Given the description of an element on the screen output the (x, y) to click on. 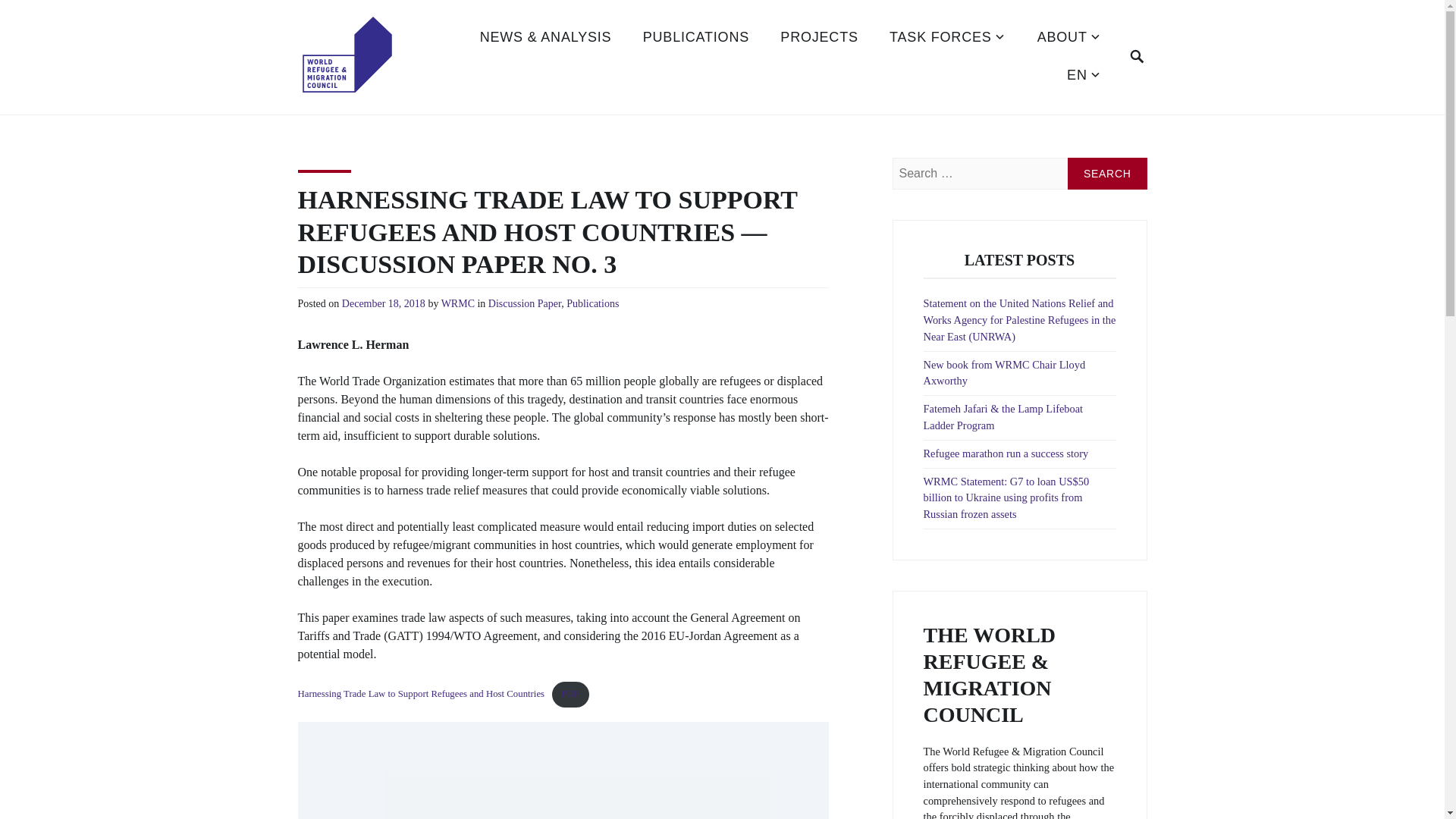
PUBLICATIONS (696, 38)
Discussion Paper (523, 304)
Harnessing Trade Law to Support Refugees and Host Countries (420, 694)
PROJECTS (818, 38)
WRMC (457, 304)
Search (1107, 173)
ABOUT (1069, 38)
EN (1083, 76)
Publications (592, 304)
PDF (570, 694)
